Given the description of an element on the screen output the (x, y) to click on. 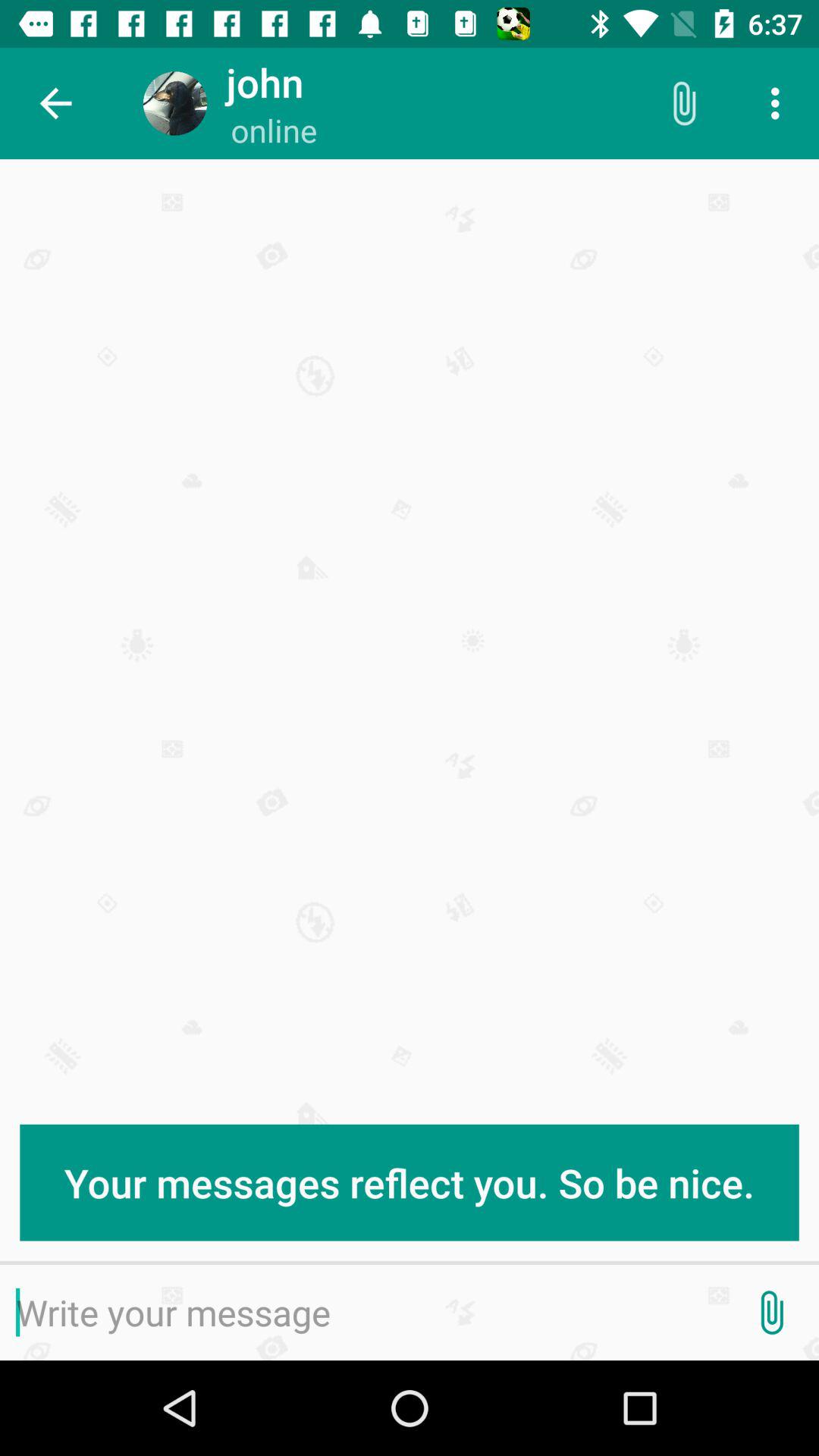
click icon above the your messages reflect (779, 103)
